Given the description of an element on the screen output the (x, y) to click on. 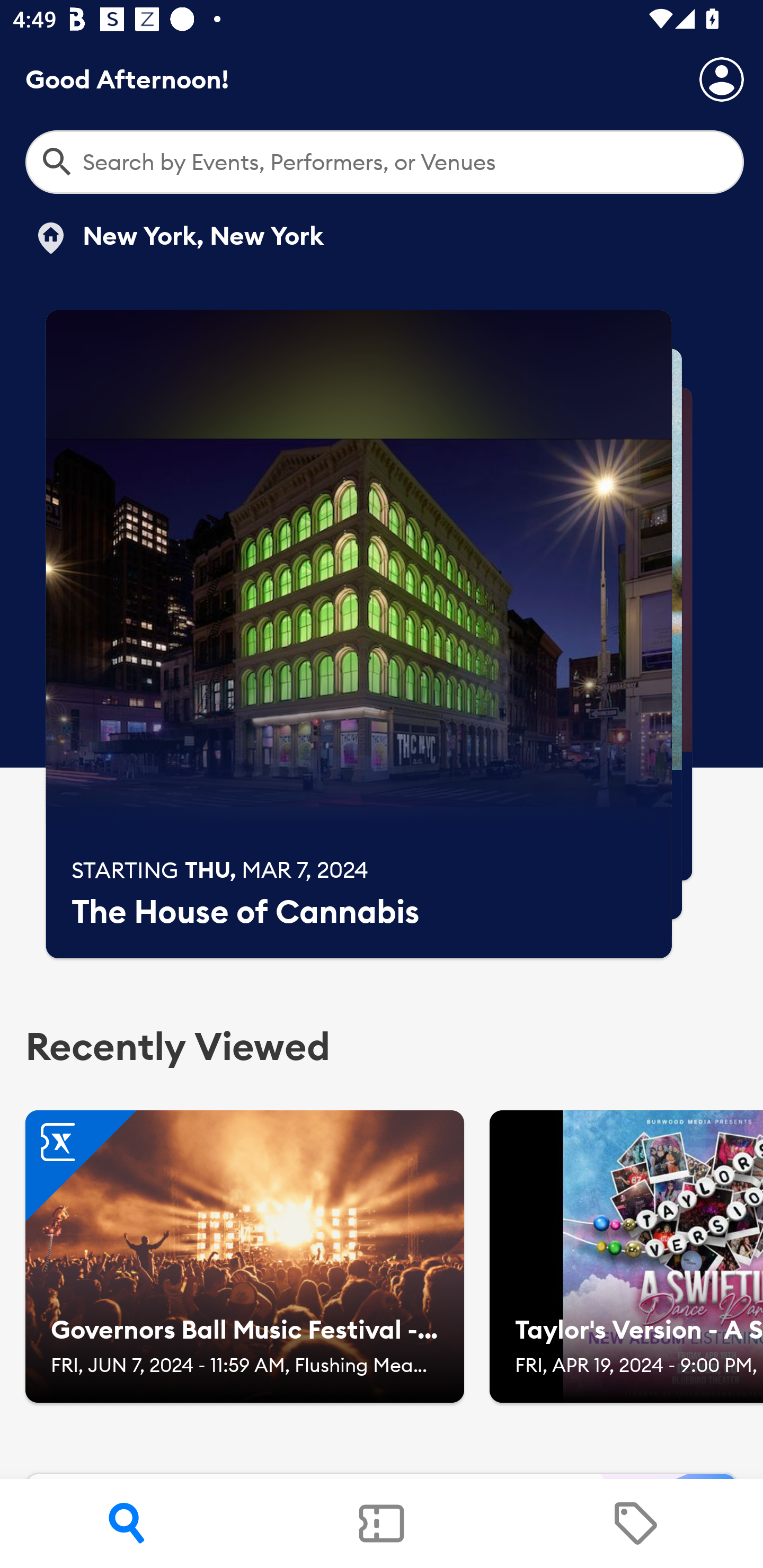
UserIcon (721, 78)
Search by Events, Performers, or Venues (384, 161)
New York, New York (177, 237)
STARTING THU, MAR 7, 2024 The House of Cannabis (358, 634)
Menu Item: Tickets (381, 1523)
Menu Item: Resale (635, 1523)
